Given the description of an element on the screen output the (x, y) to click on. 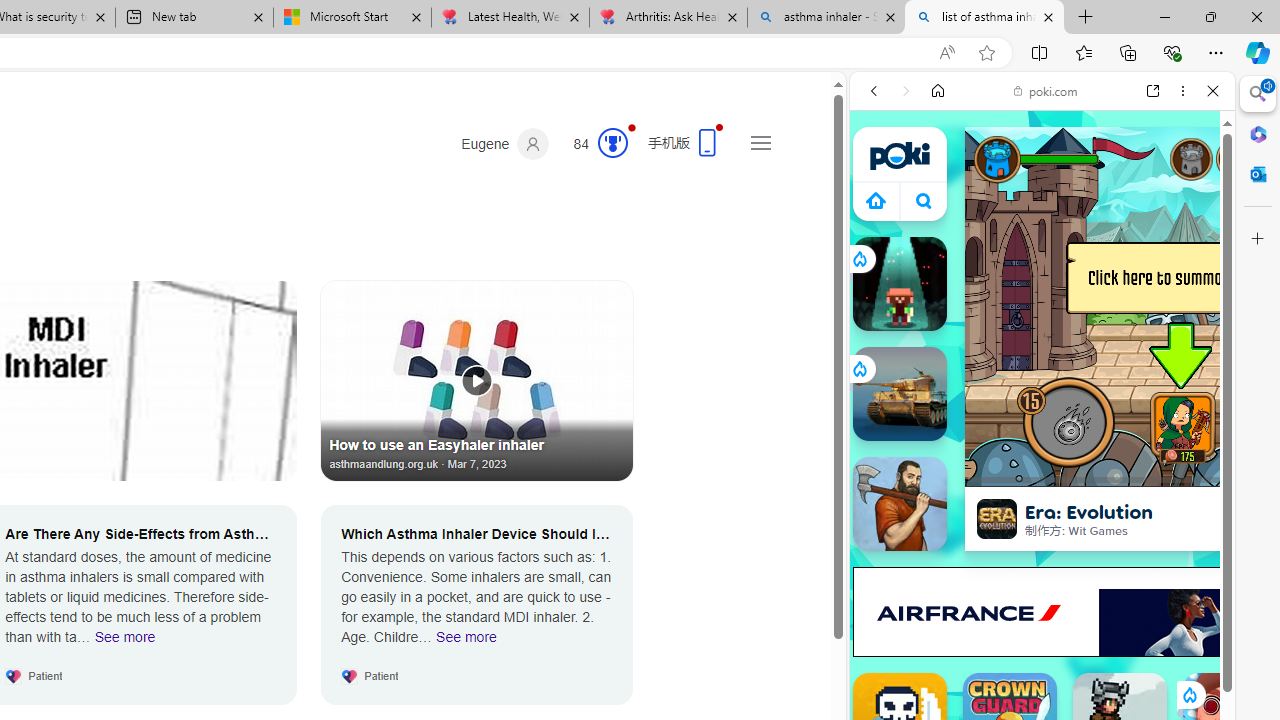
Show More Car Games (1164, 472)
Eugene (505, 143)
Two Player Games (1042, 568)
list of asthma inhalers uk - Search (984, 17)
Poki (1034, 288)
Two Player Games (1042, 567)
Era: Evolution (996, 518)
How to use an Easyhaler inhaler (477, 380)
